Given the description of an element on the screen output the (x, y) to click on. 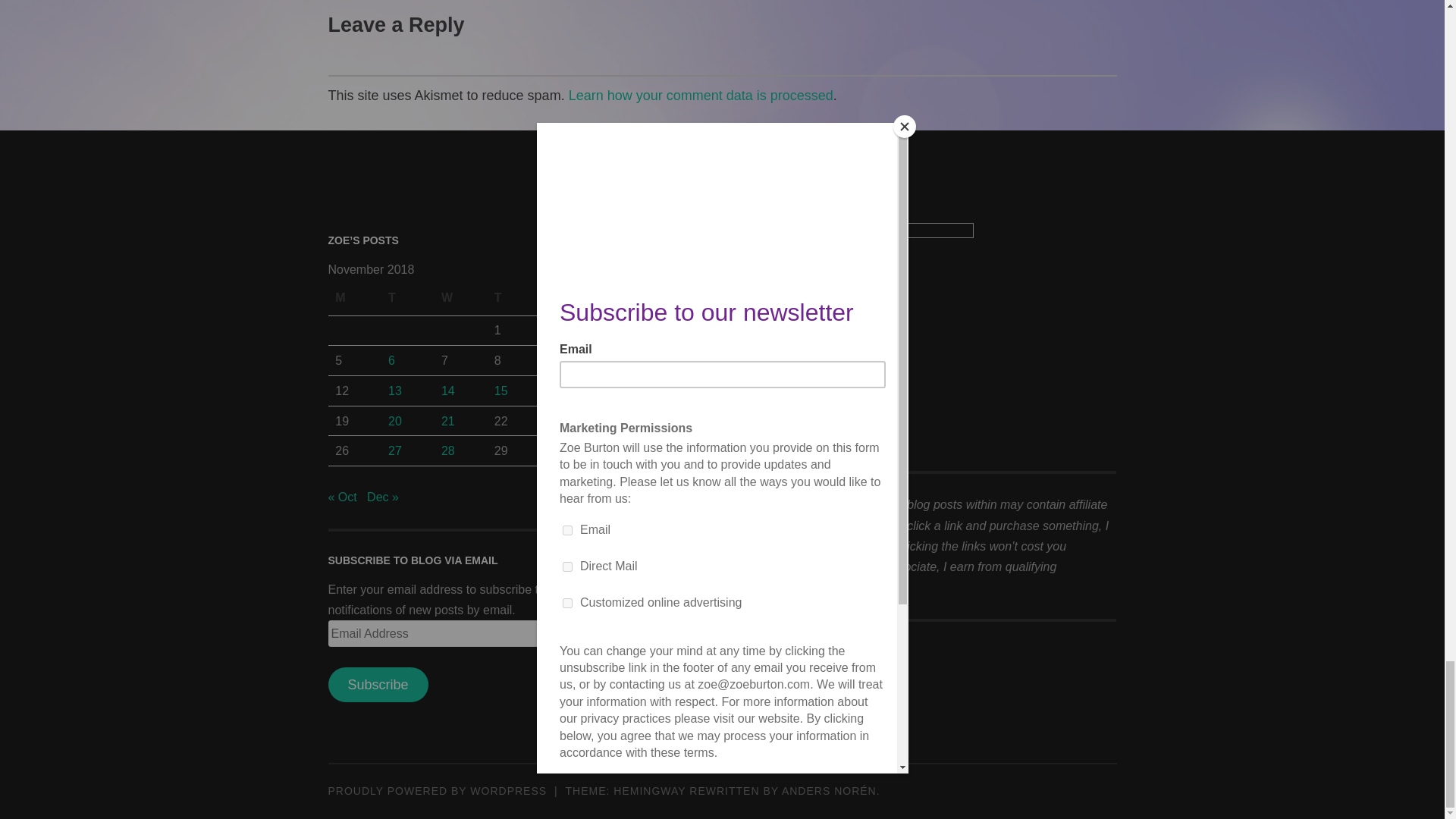
Saturday (619, 297)
Monday (353, 297)
Tuesday (406, 297)
Sunday (671, 297)
Friday (566, 297)
Wednesday (459, 297)
Thursday (513, 297)
